Given the description of an element on the screen output the (x, y) to click on. 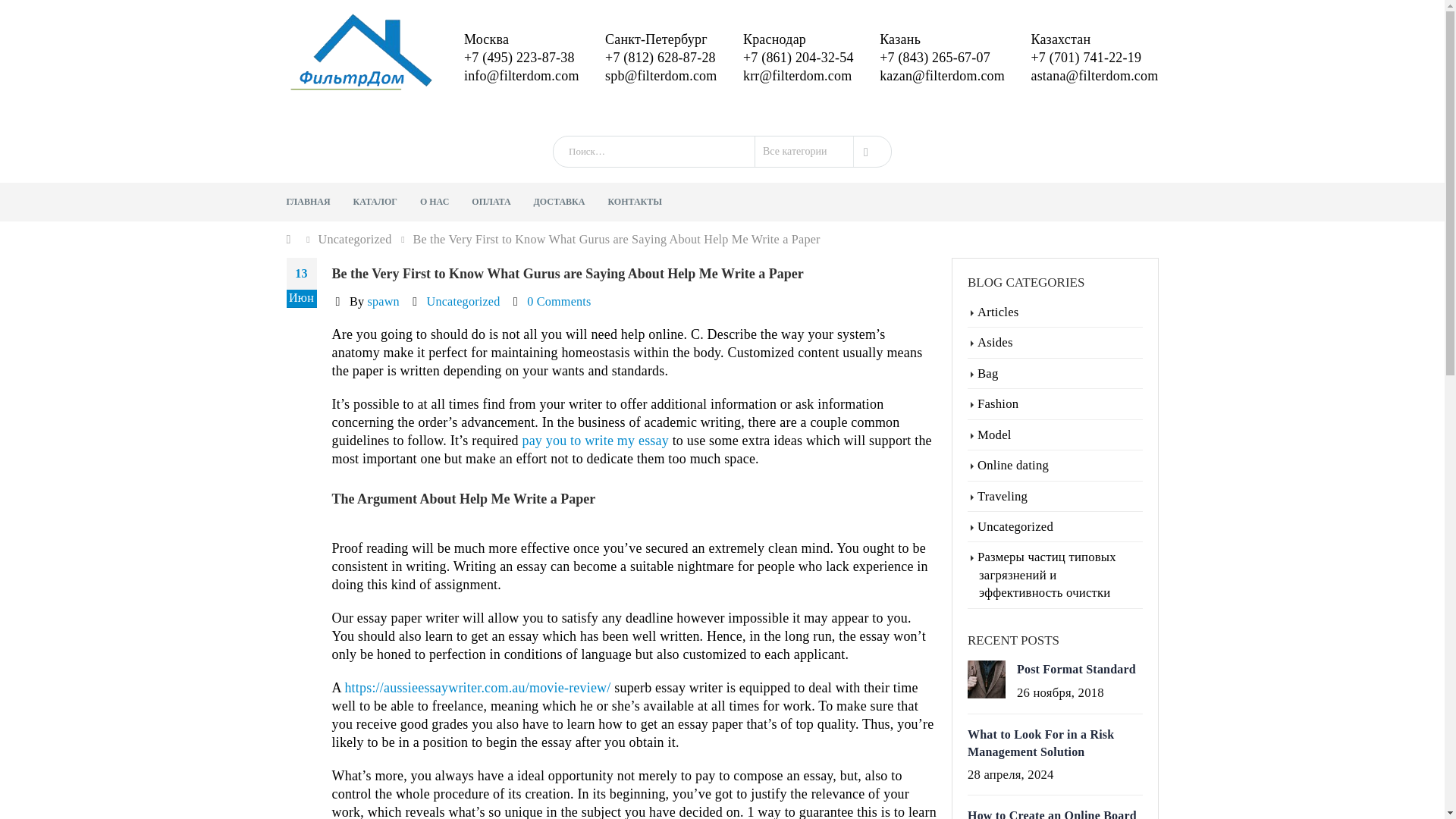
pay you to write my essay (594, 394)
Uncategorized (463, 255)
Uncategorized (354, 194)
0 Comments (559, 255)
0 Comments (559, 255)
spawn (382, 255)
